Given the description of an element on the screen output the (x, y) to click on. 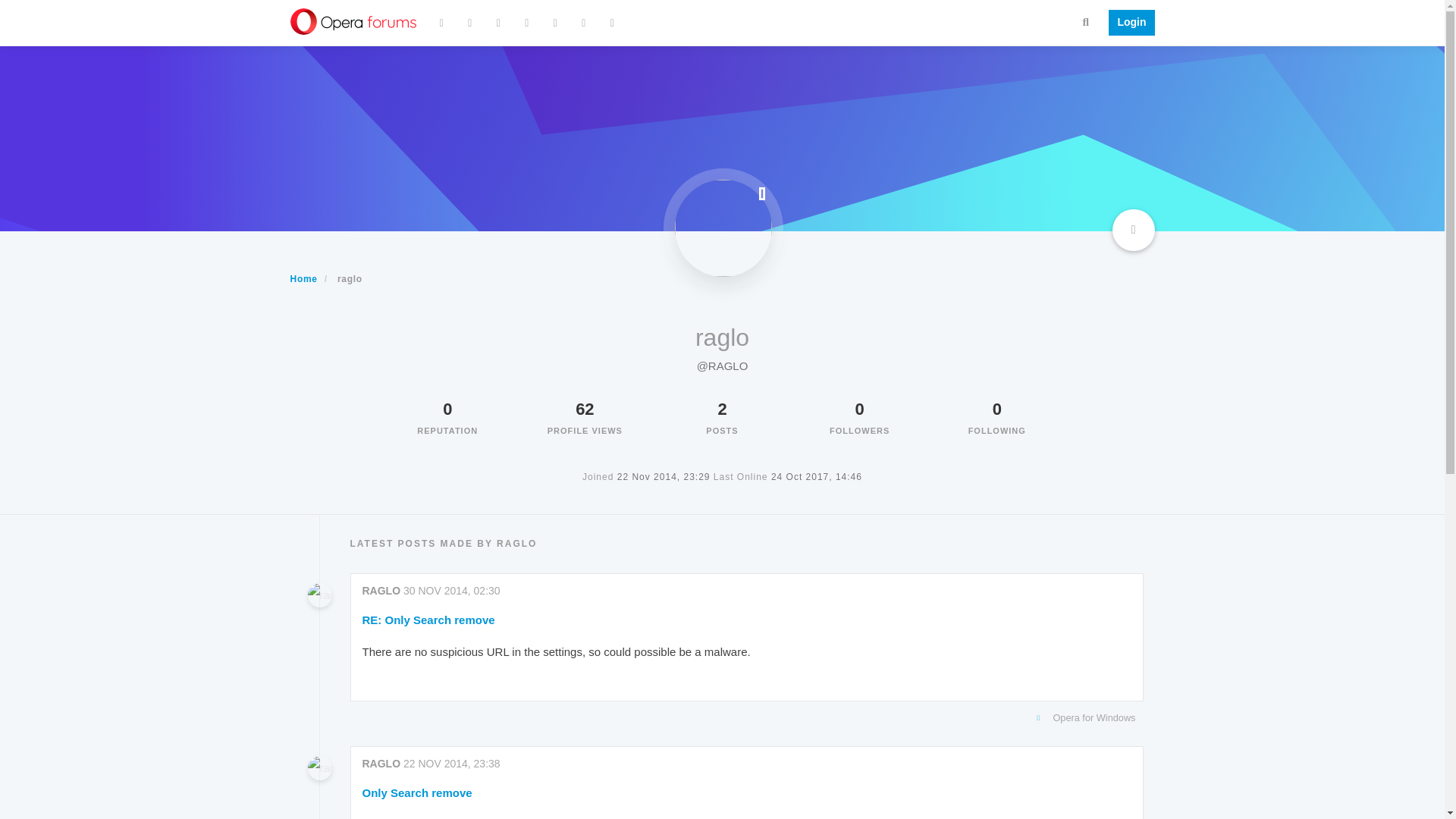
Home (303, 278)
0 (996, 408)
Search (1085, 21)
2 (721, 408)
Login (1127, 22)
Offline (761, 193)
0 (860, 408)
